Given the description of an element on the screen output the (x, y) to click on. 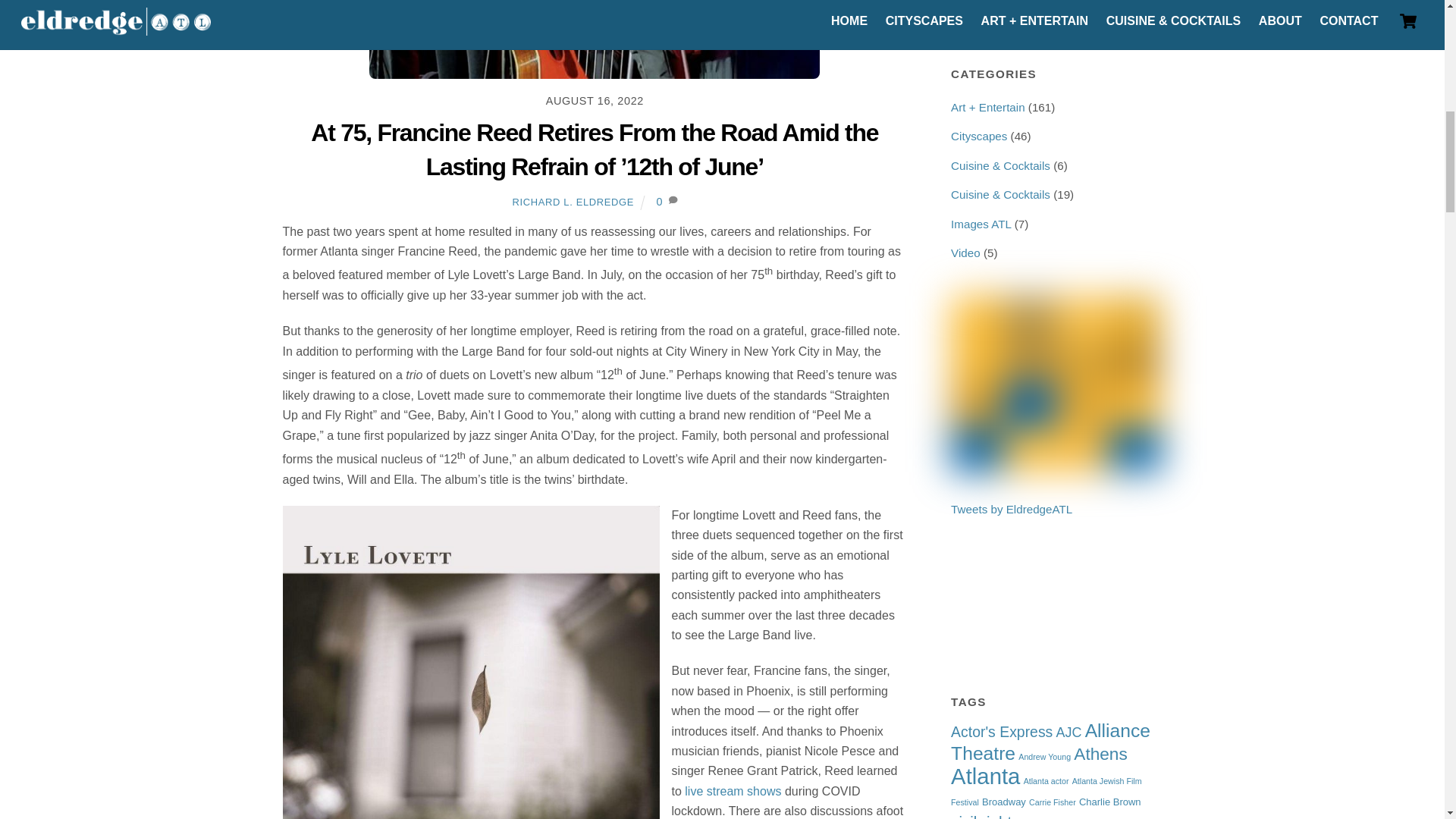
live stream shows (732, 790)
RICHARD L. ELDREDGE (573, 202)
